Given the description of an element on the screen output the (x, y) to click on. 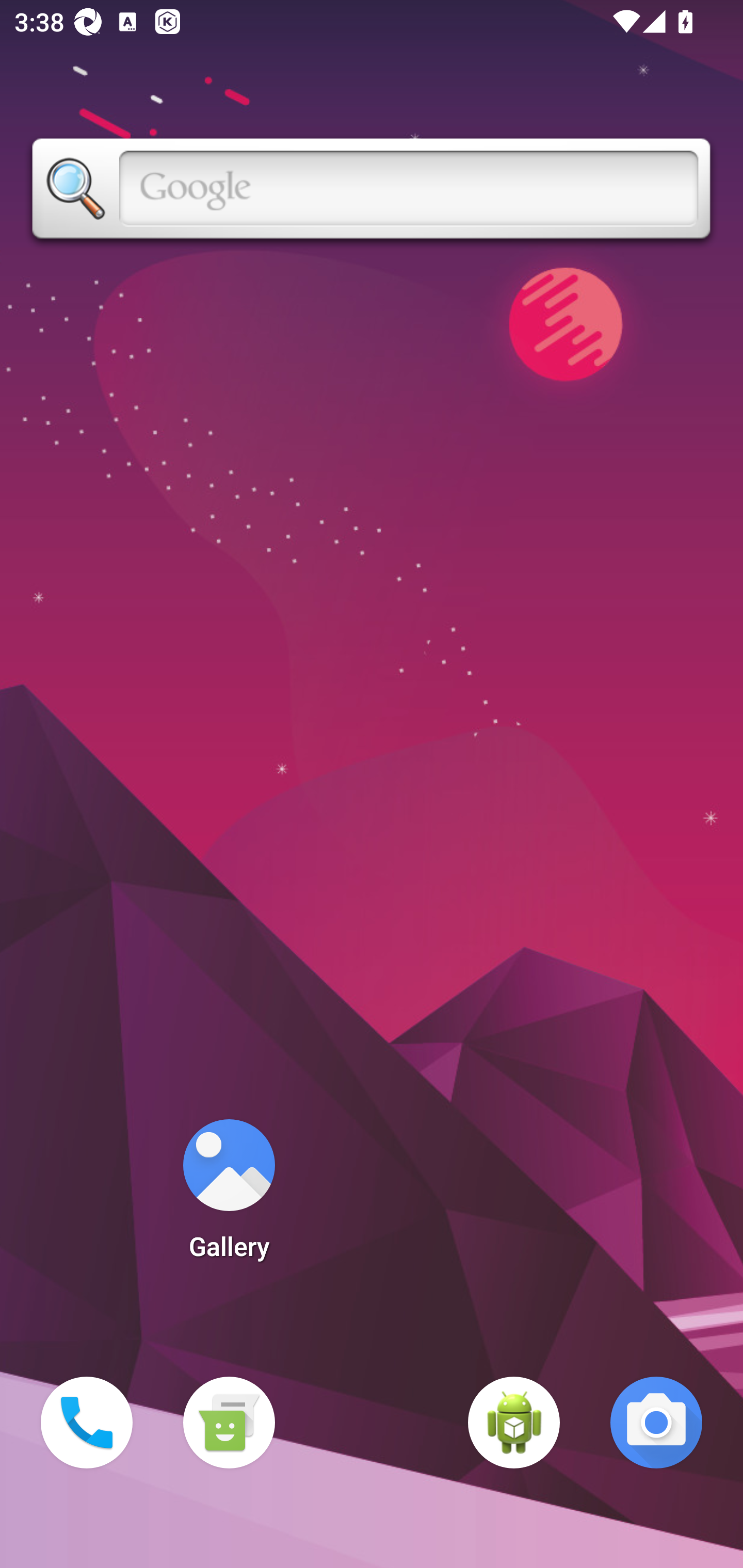
Gallery (228, 1195)
Phone (86, 1422)
Messaging (228, 1422)
WebView Browser Tester (513, 1422)
Camera (656, 1422)
